Given the description of an element on the screen output the (x, y) to click on. 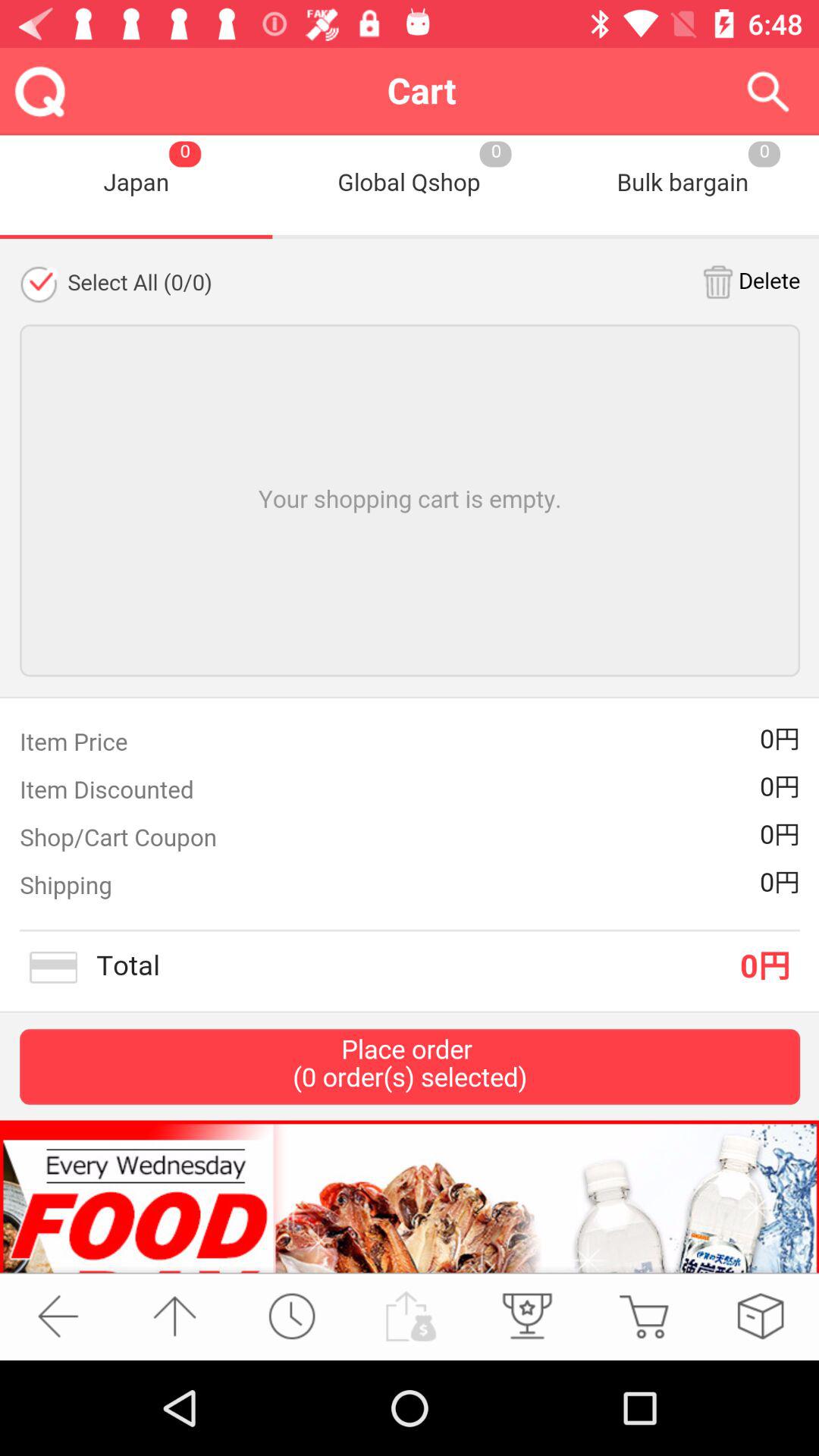
description (409, 703)
